Given the description of an element on the screen output the (x, y) to click on. 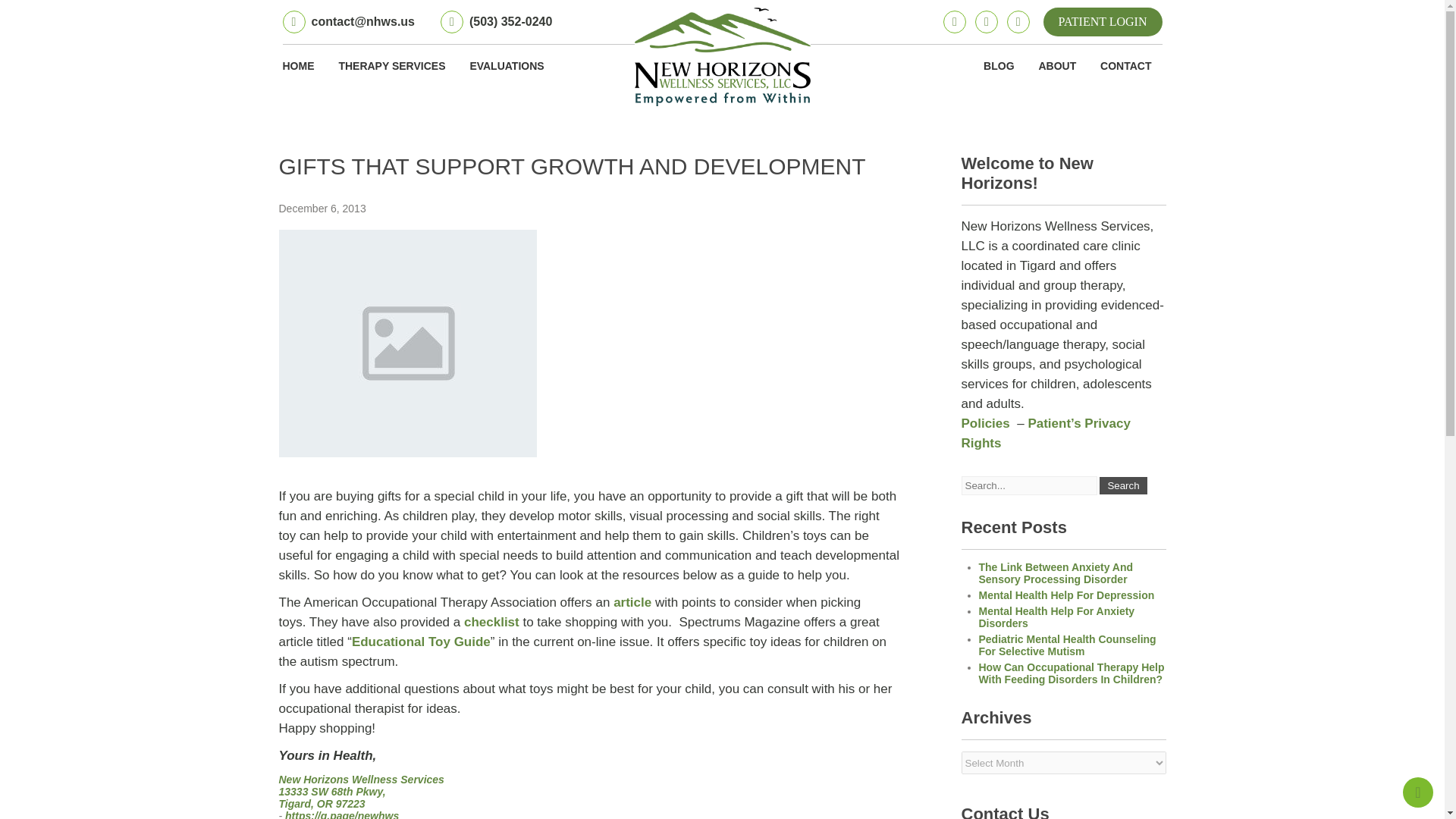
EVALUATIONS (506, 65)
Search (1123, 485)
ABOUT (1056, 65)
PATIENT LOGIN (1102, 21)
HOME (303, 65)
BLOG (998, 65)
Search (1123, 485)
CONTACT (1125, 65)
THERAPY SERVICES (391, 65)
